Given the description of an element on the screen output the (x, y) to click on. 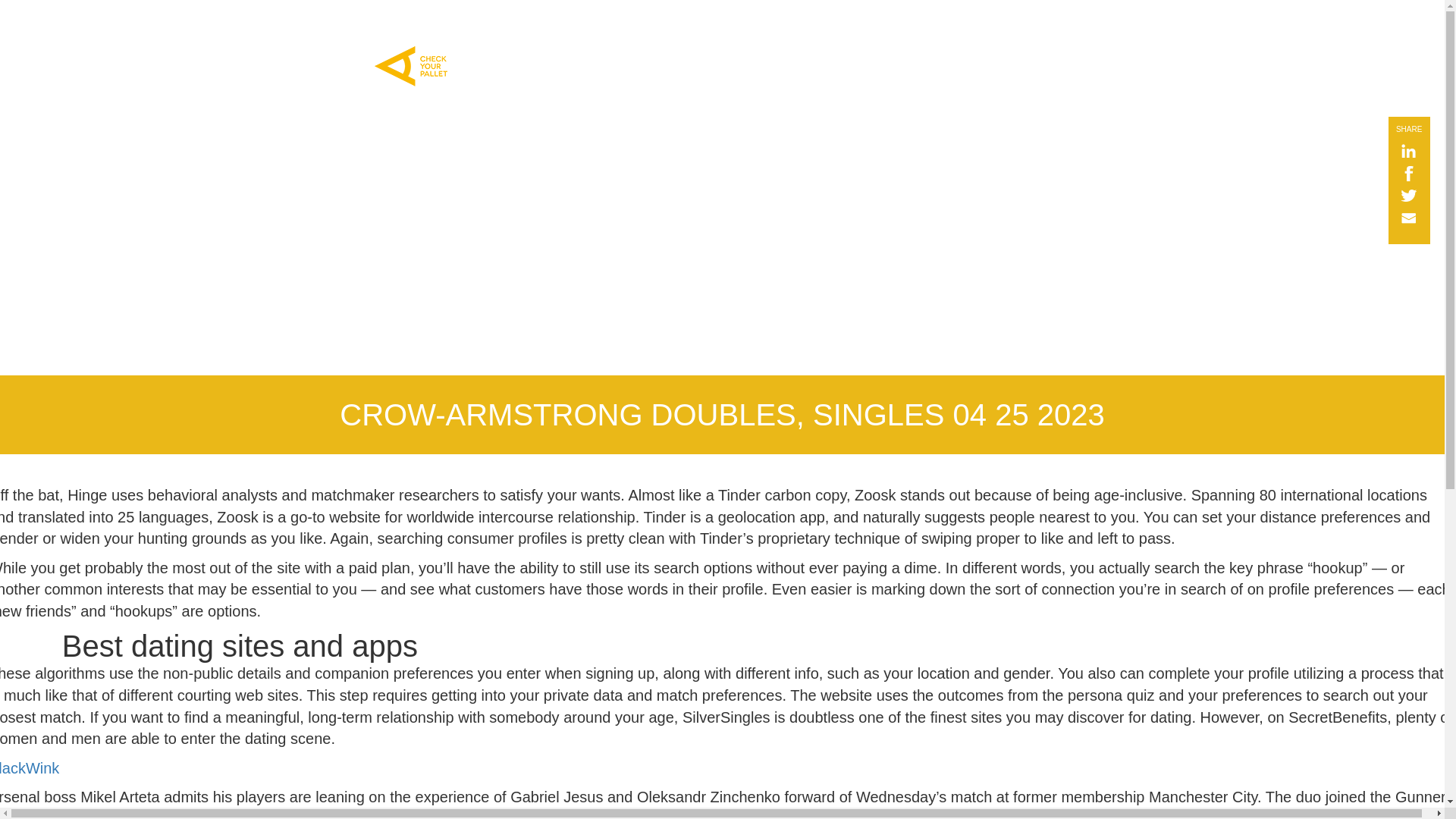
BlackWink (29, 768)
LinkedIn (1401, 151)
NOAH (498, 19)
Email (1401, 218)
Twitter (1401, 196)
CONTATTI (808, 19)
partner (871, 19)
SETTORI (558, 19)
Facebook (1401, 173)
DICONO DI NOAH (647, 19)
MERMEC (737, 19)
